Given the description of an element on the screen output the (x, y) to click on. 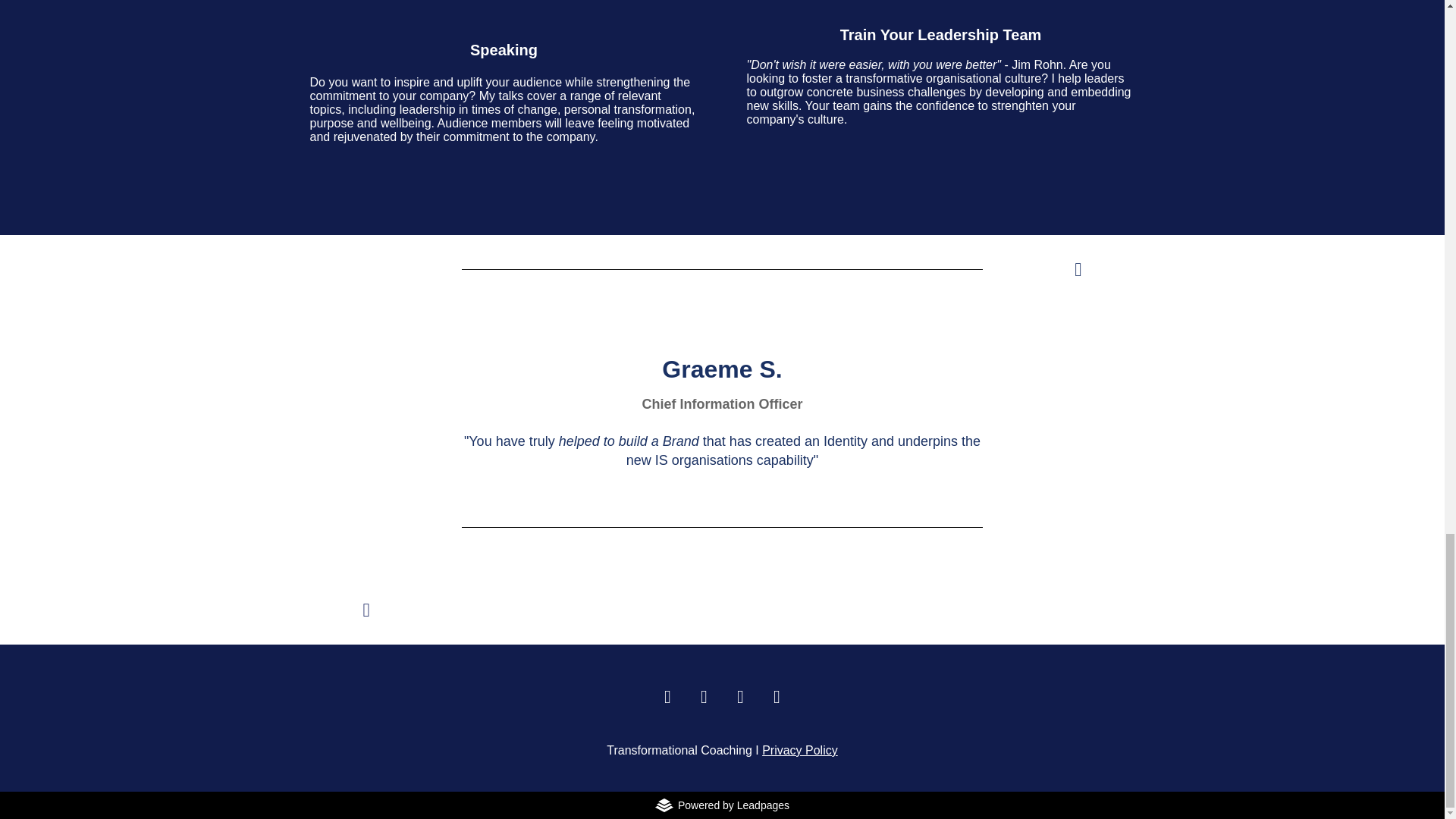
Share on Instagram (667, 696)
Privacy Policy (799, 749)
Share on LinkedIn (703, 696)
Share on Youtube (776, 696)
